Given the description of an element on the screen output the (x, y) to click on. 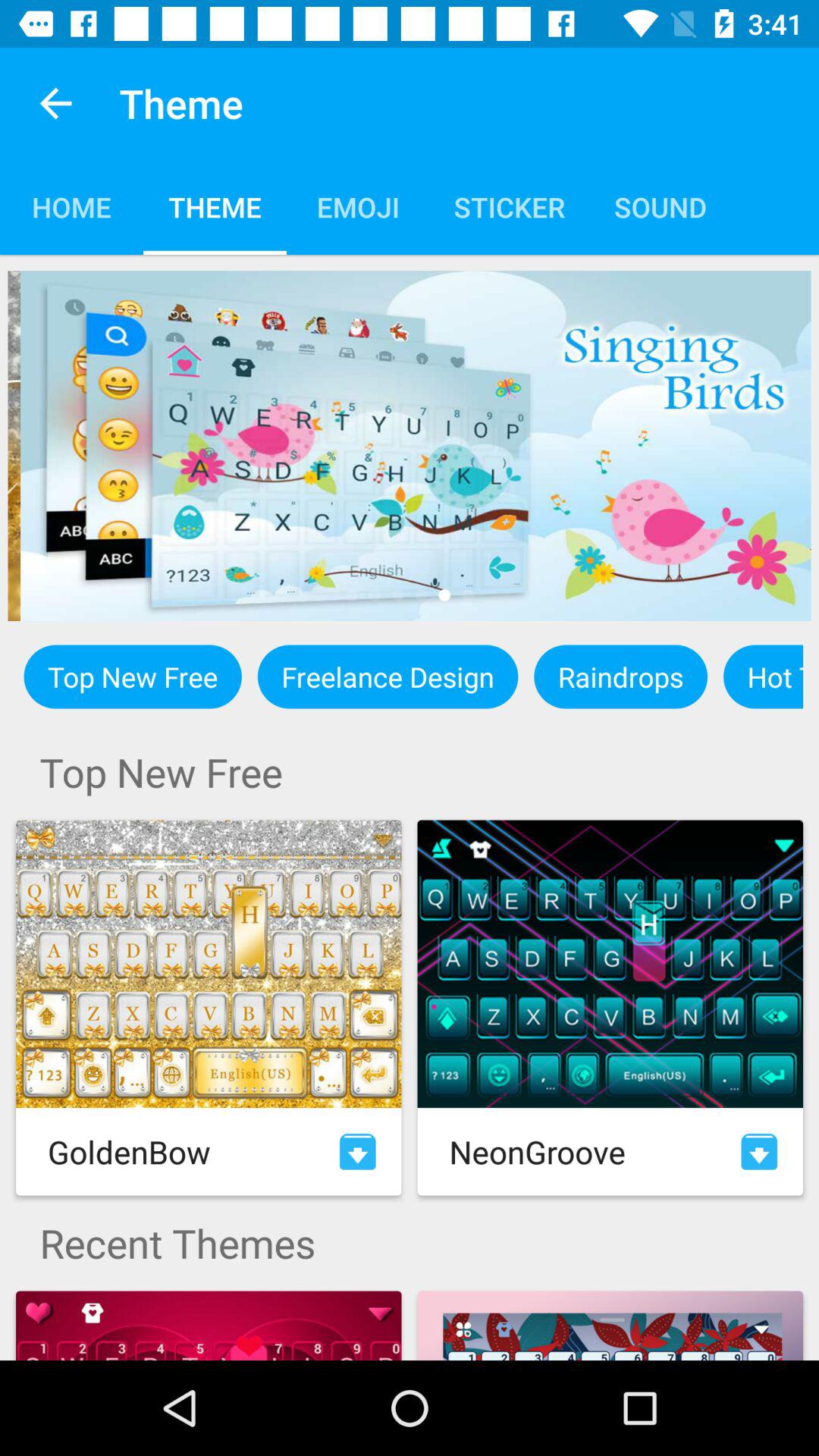
click on singing birds (409, 445)
